Given the description of an element on the screen output the (x, y) to click on. 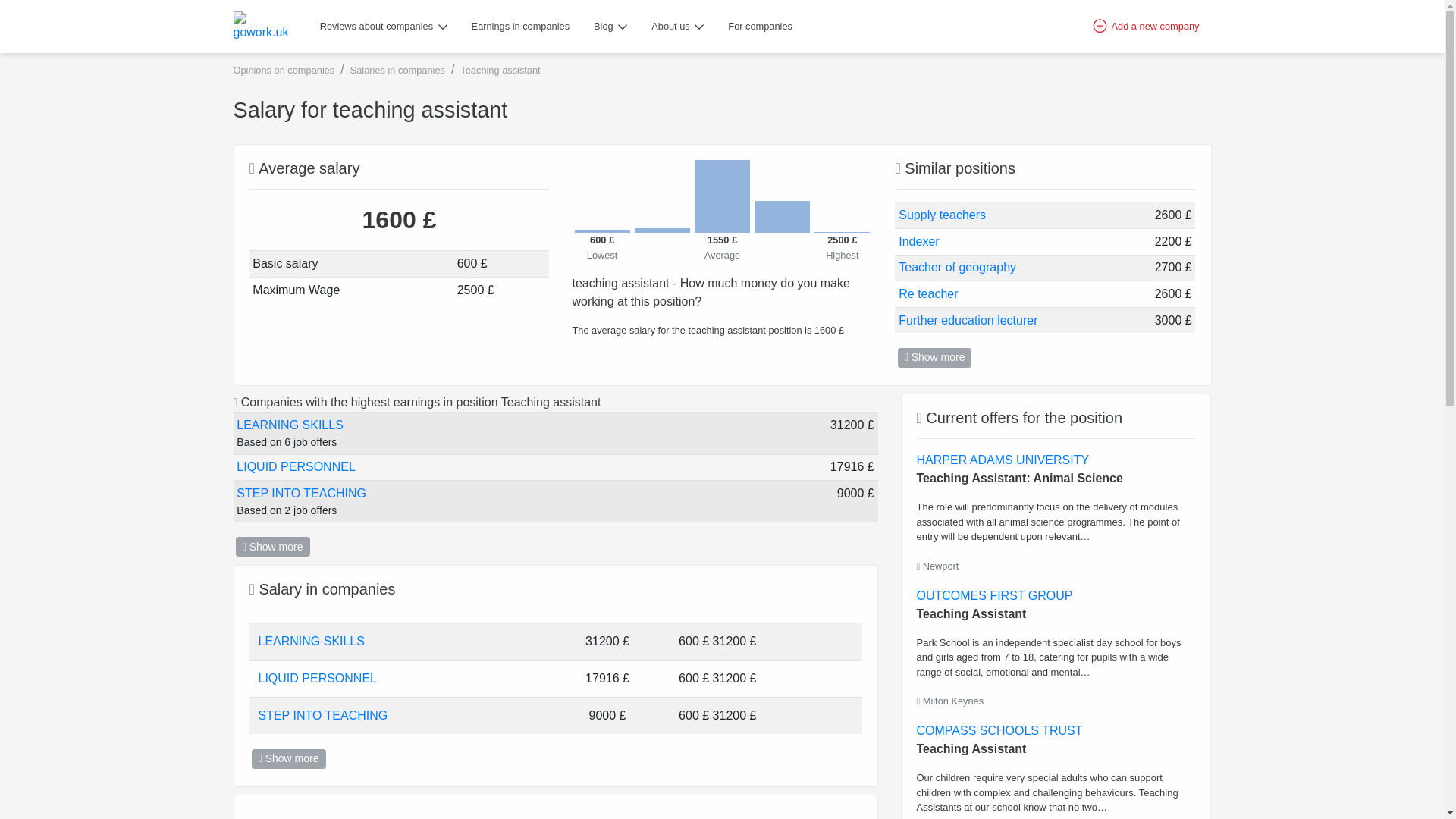
Reviews about companies (383, 26)
For companies (760, 26)
further education lecturer (967, 321)
Salaries in companies (397, 70)
About us (677, 26)
Teaching assistant (500, 70)
supply teachers (941, 215)
Earnings in companies (520, 26)
Opinions on companies (283, 70)
Show more (935, 357)
